Given the description of an element on the screen output the (x, y) to click on. 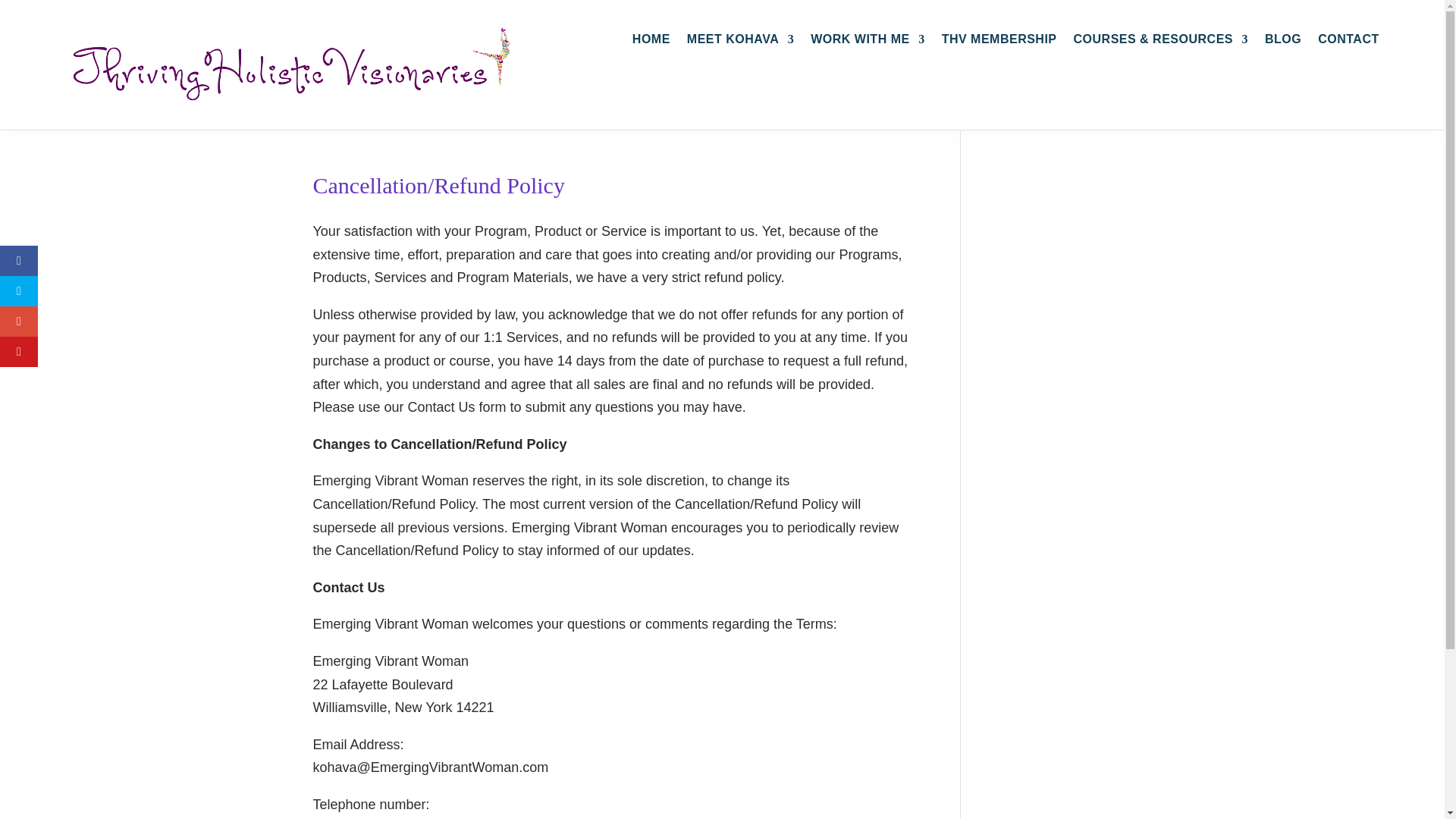
CONTACT (1347, 41)
BLOG (1283, 41)
MEET KOHAVA (740, 41)
HOME (650, 41)
WORK WITH ME (867, 41)
Life Coach of Thriving Holistic Visionaries (296, 64)
THV MEMBERSHIP (999, 41)
